Given the description of an element on the screen output the (x, y) to click on. 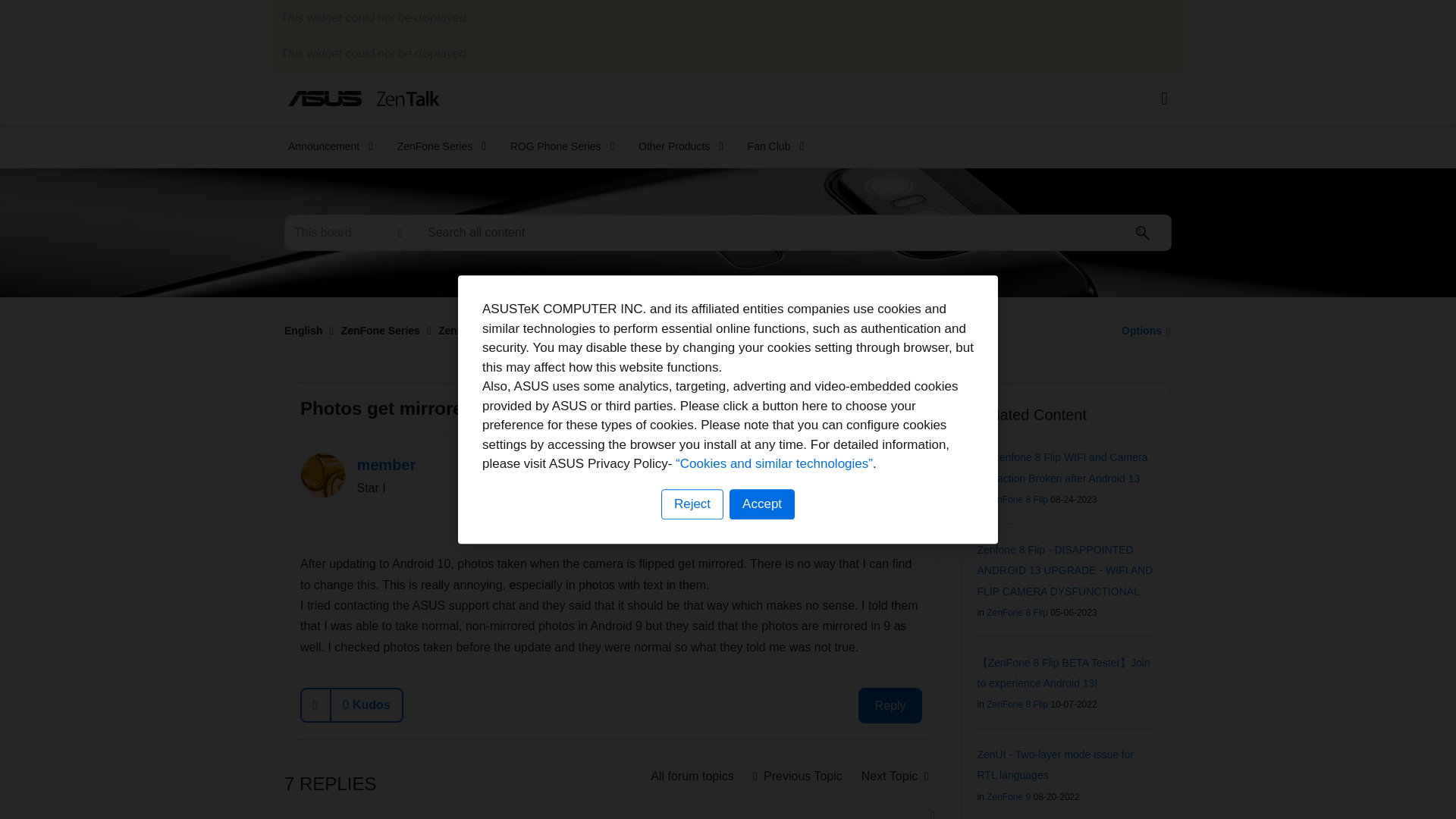
Search (1142, 232)
ASUS - ZenTalk (363, 97)
Community Manager (877, 520)
Search (1142, 232)
ROG Phone Series (557, 146)
Search (792, 232)
Show option menu (913, 463)
The total number of kudos this post has received. (366, 705)
Click here to give kudos to this post. (316, 705)
Other Products (676, 146)
member (322, 474)
Search Granularity (347, 232)
ZenFone 6 (691, 775)
Show option menu (1142, 330)
ZenFone Series (436, 146)
